Given the description of an element on the screen output the (x, y) to click on. 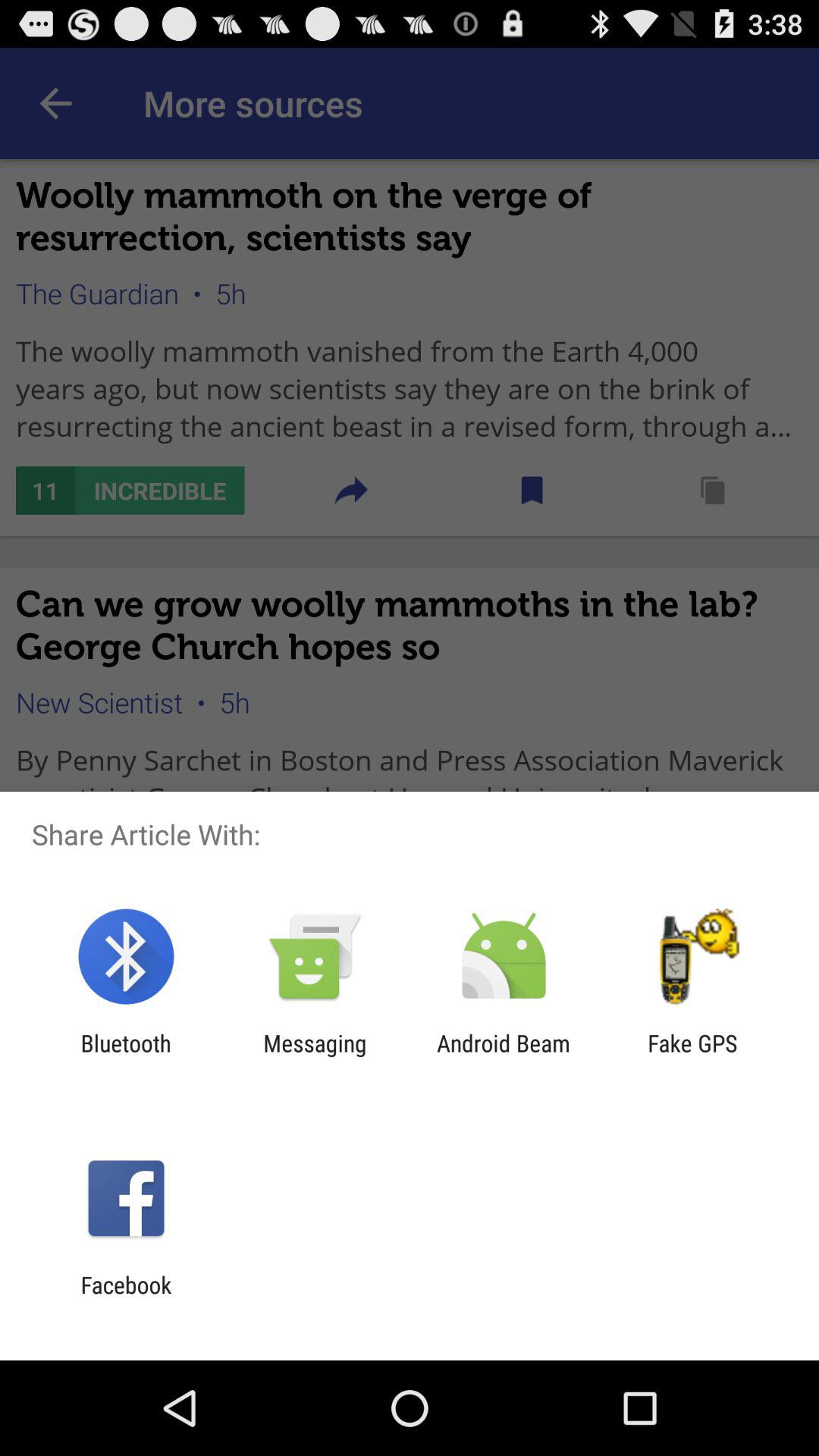
select icon at the bottom right corner (692, 1056)
